Given the description of an element on the screen output the (x, y) to click on. 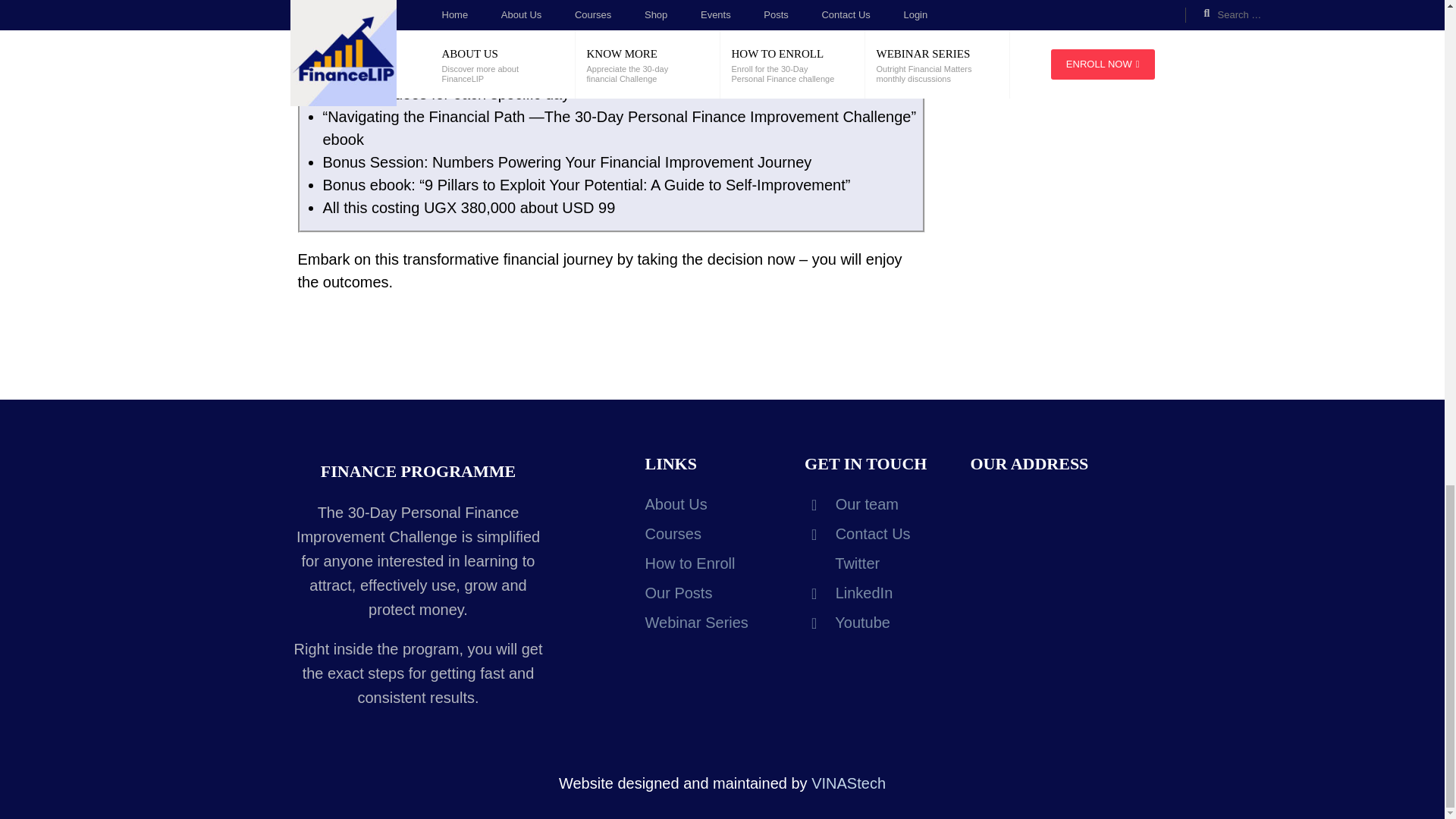
Our team (851, 504)
Our Posts (678, 592)
Webinar Series (696, 622)
Twitter (842, 563)
How to Enroll (690, 563)
About Us (675, 504)
Courses (672, 533)
FinanceLIP, Kampala (1061, 541)
Contact Us (858, 533)
